Given the description of an element on the screen output the (x, y) to click on. 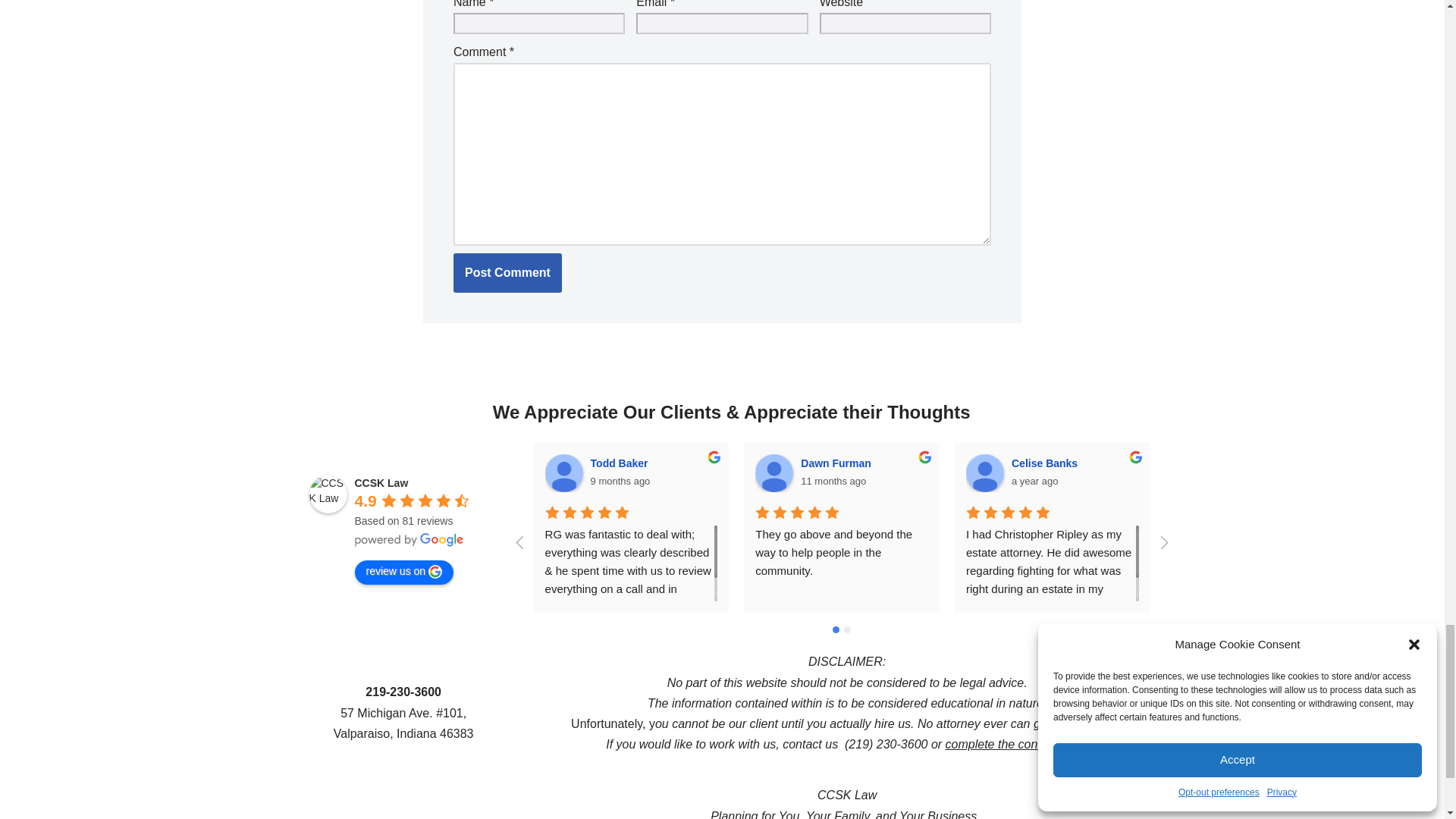
powered by Google (409, 540)
Dawn Furman (774, 473)
CCSK Law (327, 494)
Celise Banks (985, 473)
Eric Moldenhauer (1406, 473)
Brad Mistina (1195, 473)
Todd Baker (563, 473)
Post Comment (507, 272)
